Given the description of an element on the screen output the (x, y) to click on. 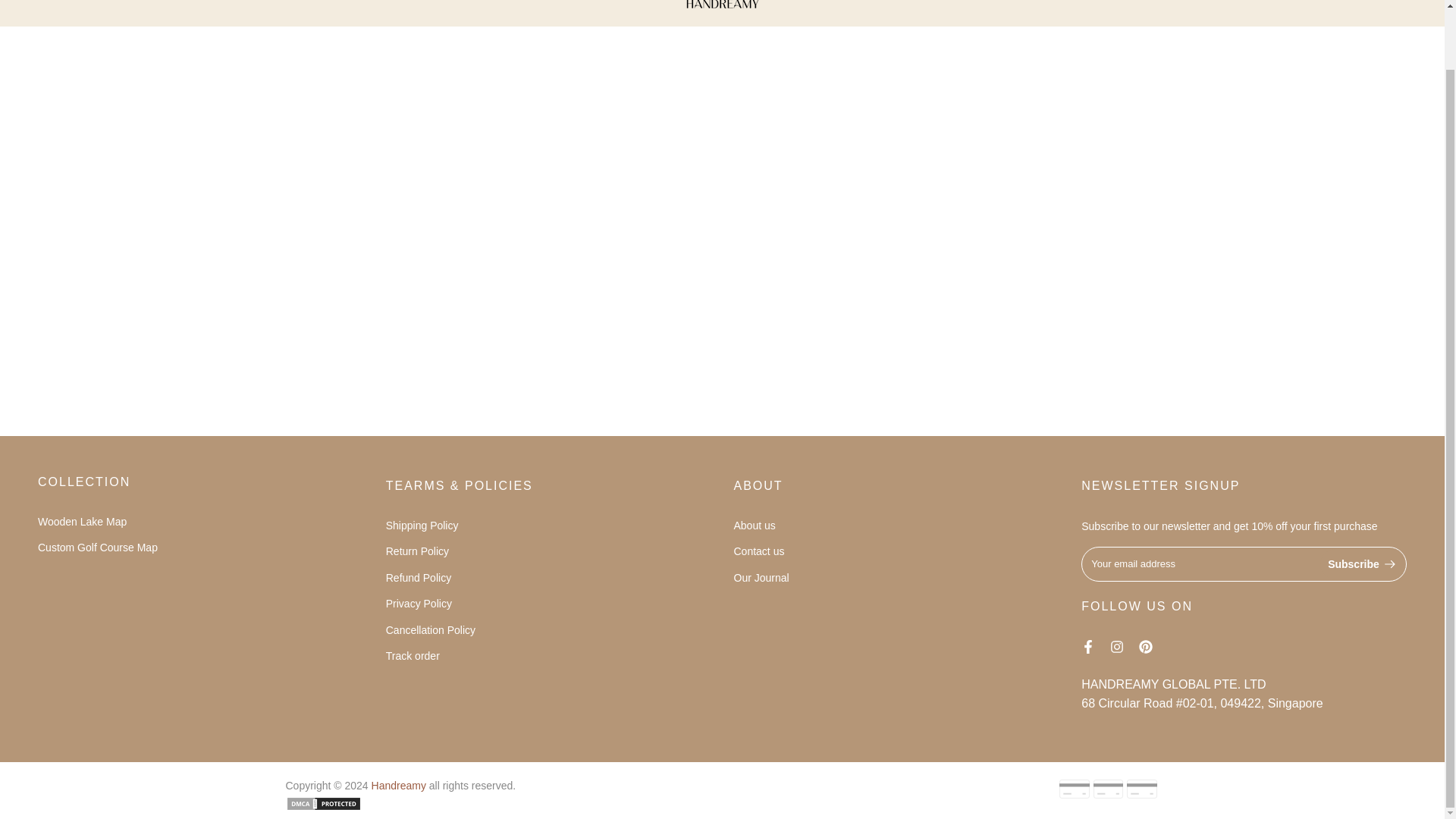
Our Journal (761, 577)
Track order (412, 655)
Custom Golf Course Map (97, 547)
Cancellation Policy (430, 630)
Privacy Policy (418, 603)
DMCA.com Protection Status (323, 802)
Refund Policy (418, 577)
Shipping Policy (421, 525)
Subscribe (1362, 563)
About us (754, 525)
